Given the description of an element on the screen output the (x, y) to click on. 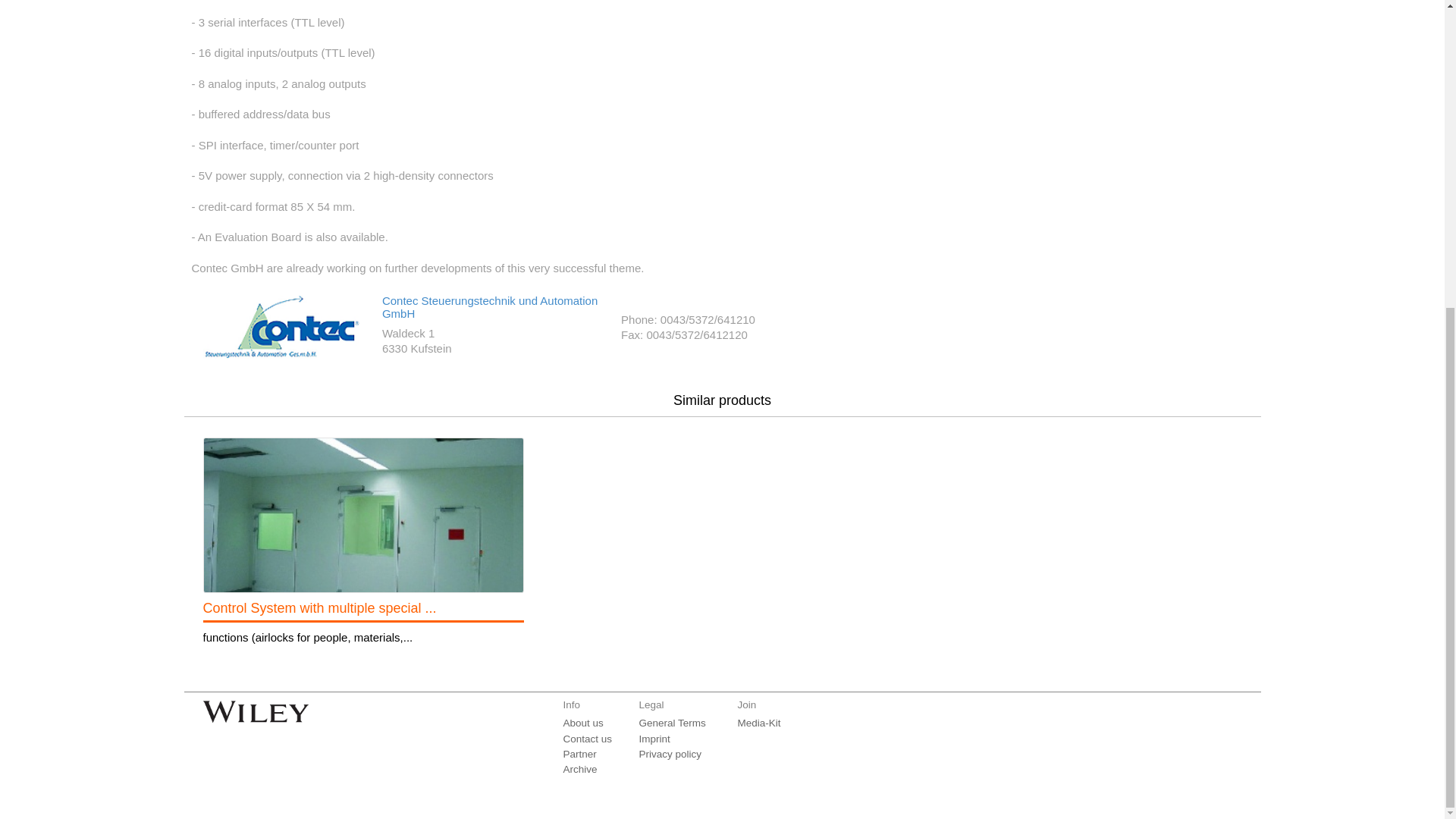
Imprint (654, 739)
Privacy policy (670, 754)
Contact us (586, 739)
Archive (579, 769)
General Terms (671, 723)
Partner (578, 754)
Control System with multiple special ... (319, 607)
Media-Kit (758, 723)
About us (582, 723)
Contec Steuerungstechnik und Automation GmbH (488, 307)
